Given the description of an element on the screen output the (x, y) to click on. 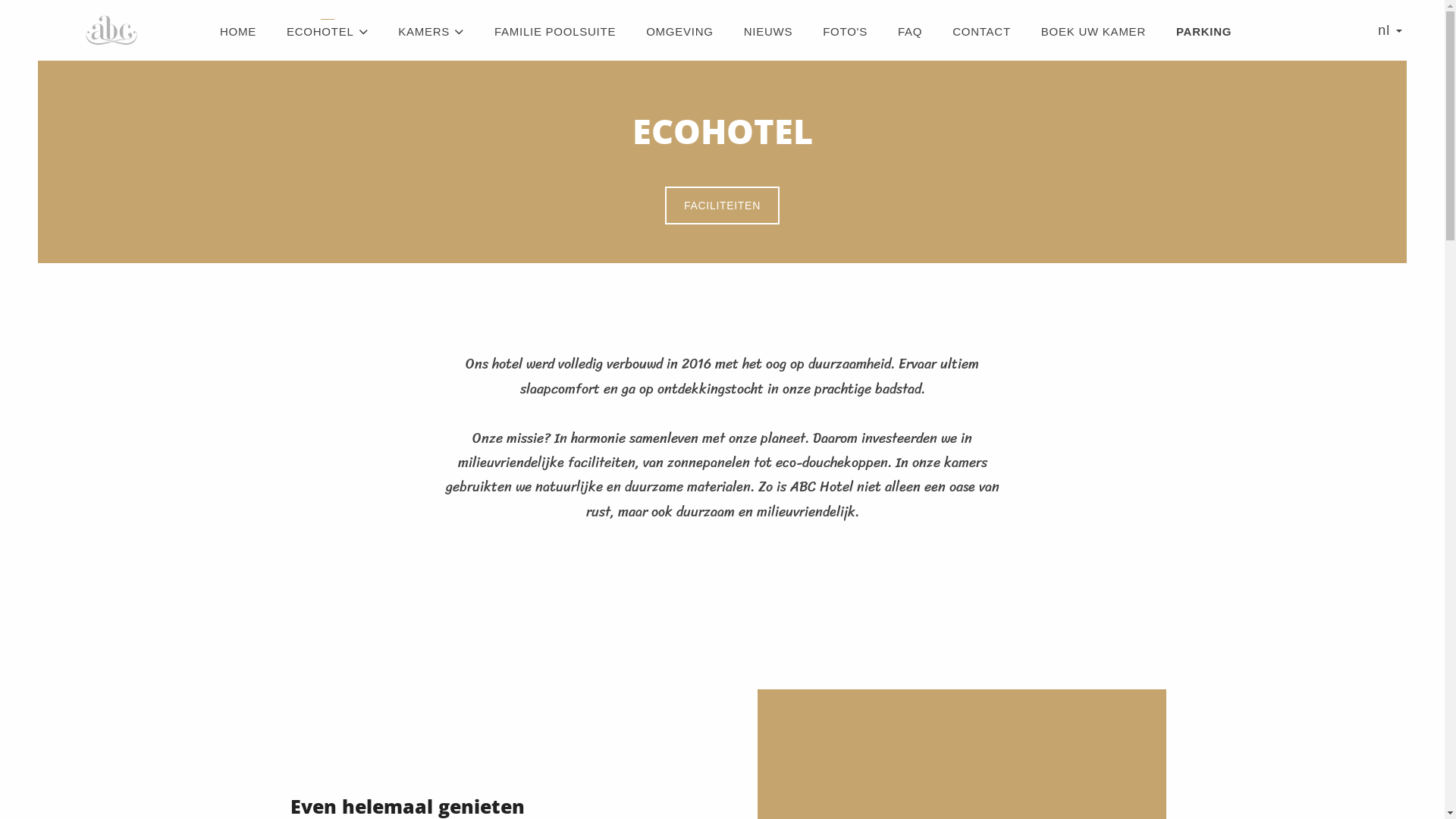
HOME Element type: text (237, 31)
ECOHOTEL Element type: text (326, 31)
FAMILIE POOLSUITE Element type: text (554, 31)
FAQ Element type: text (909, 31)
nl Element type: text (1389, 30)
PARKING Element type: text (1203, 31)
BOEK UW KAMER Element type: text (1093, 31)
NIEUWS Element type: text (768, 31)
CONTACT Element type: text (981, 31)
ABC Hotel  Element type: hover (113, 30)
FACILITEITEN Element type: text (722, 205)
KAMERS Element type: text (431, 31)
FOTO'S Element type: text (844, 31)
OMGEVING Element type: text (679, 31)
